Given the description of an element on the screen output the (x, y) to click on. 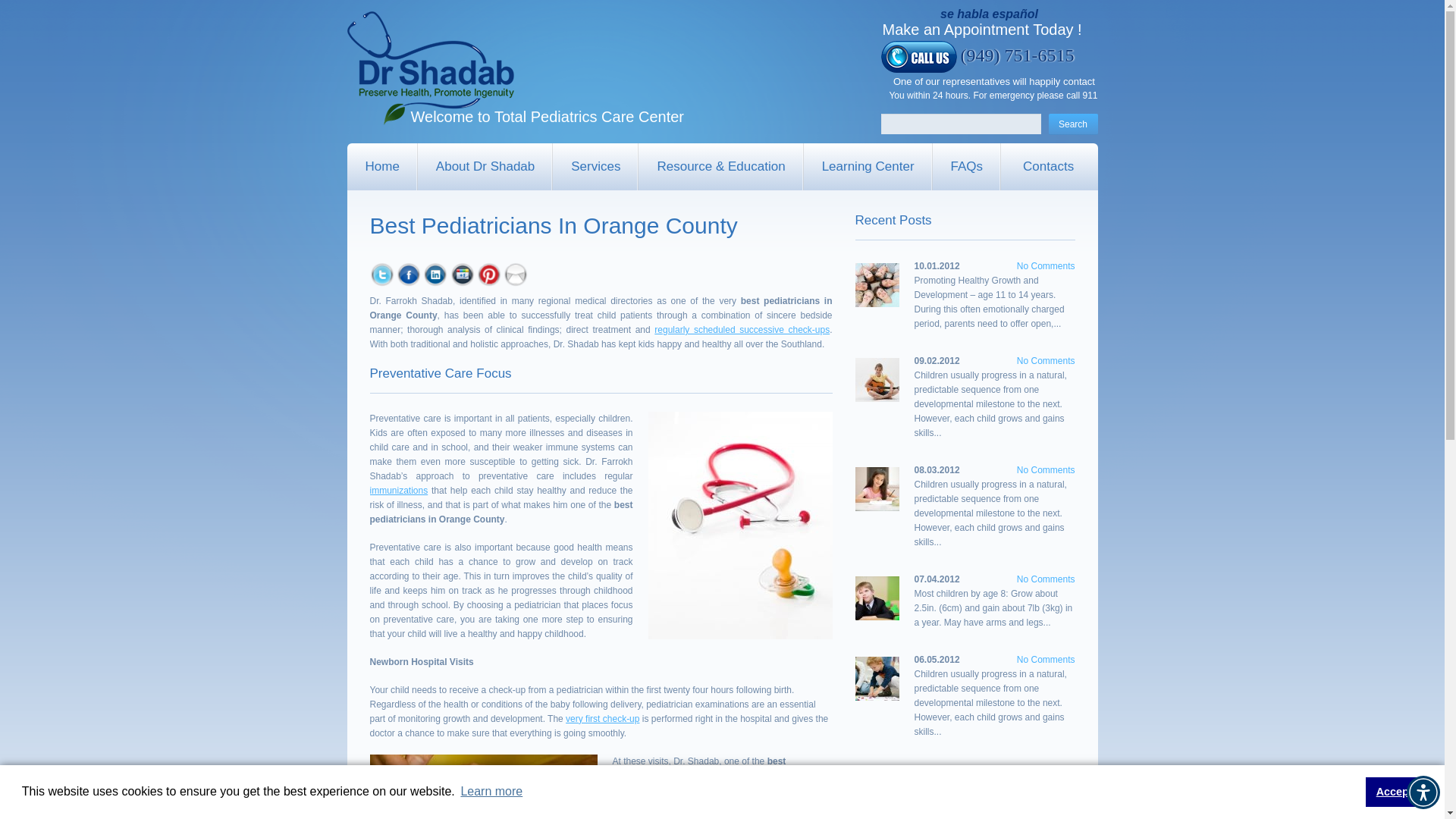
Search (1072, 124)
Home (382, 166)
Twitter (381, 268)
Plusone (461, 268)
FAQs (967, 166)
regularly scheduled successive check-ups (741, 329)
06.05.2012 (936, 659)
Welcome to Total Pediatrics Care Center (430, 68)
linkedin - Best Pediatricians In Orange County (434, 274)
09.02.2012 (936, 360)
Search (1072, 124)
Learning Center (868, 166)
plusone - Best Pediatricians In Orange County (461, 274)
Linkedin (434, 268)
pinterest - Best Pediatricians In Orange County (488, 274)
